Given the description of an element on the screen output the (x, y) to click on. 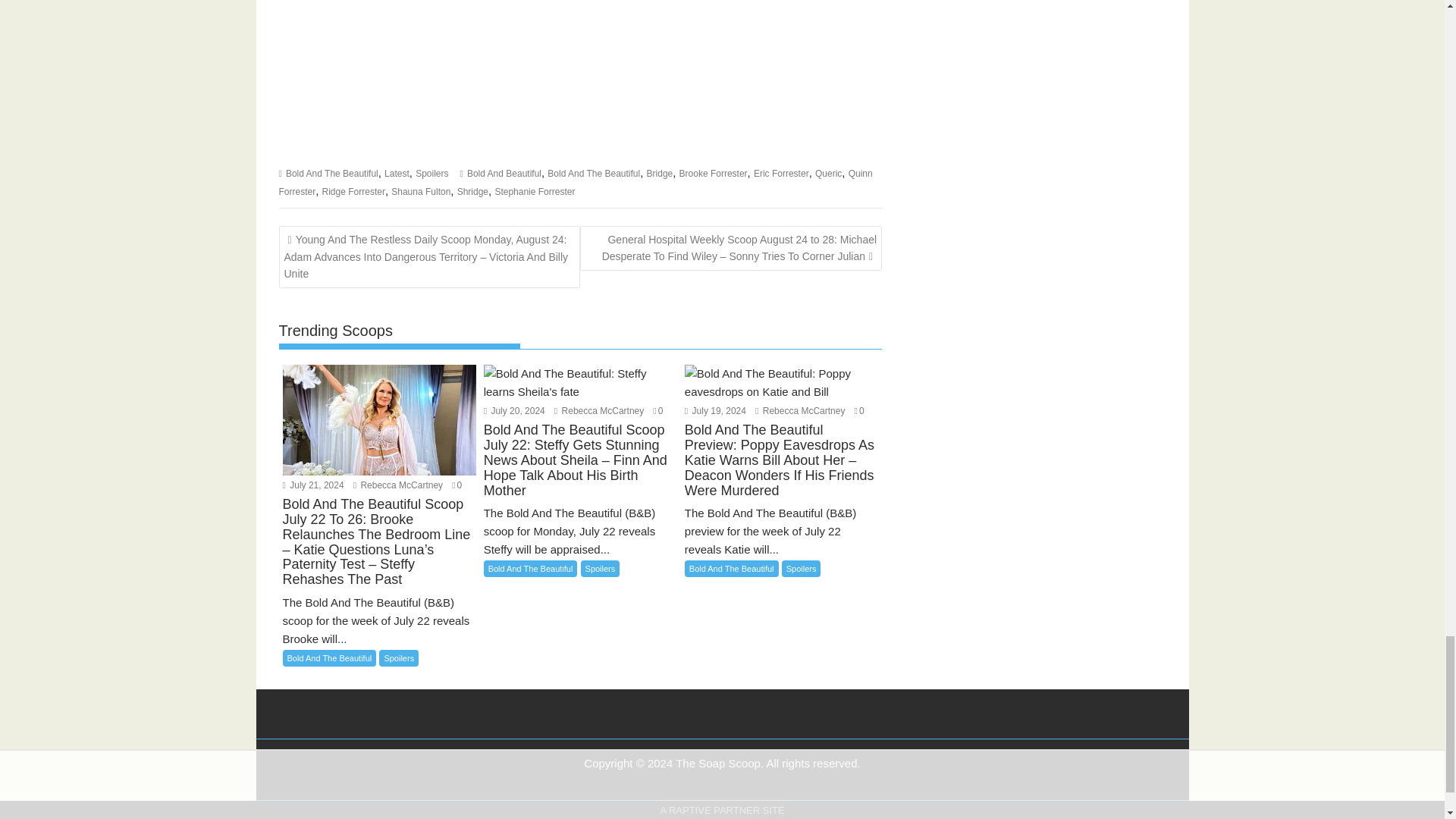
Rebecca McCartney (397, 484)
Rebecca McCartney (799, 410)
Rebecca McCartney (598, 410)
